Given the description of an element on the screen output the (x, y) to click on. 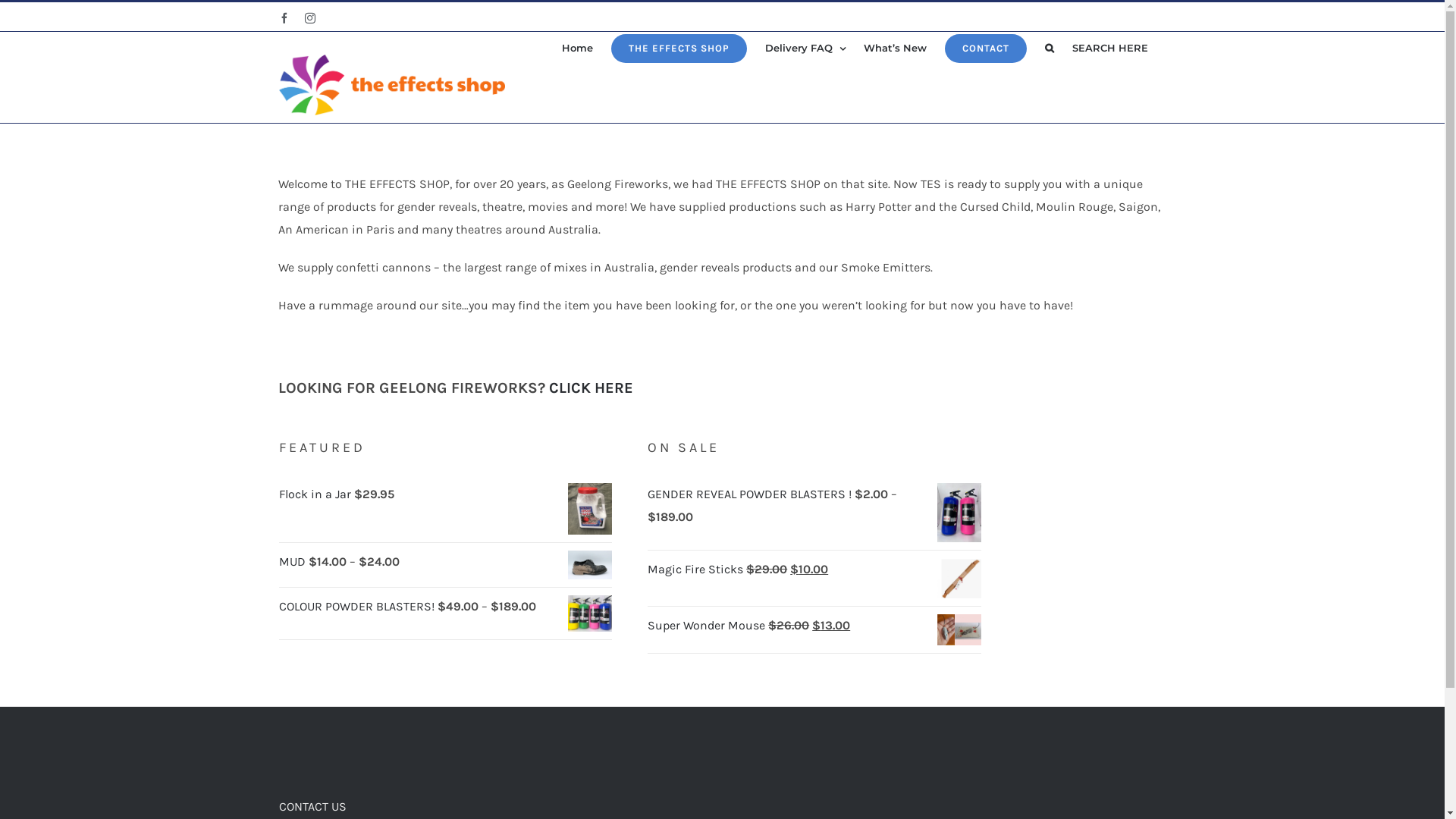
Delivery FAQ Element type: text (804, 47)
Magic Fire Sticks Element type: text (696, 568)
COLOUR POWDER BLASTERS! Element type: text (358, 606)
Home Element type: text (576, 47)
Flock in a Jar Element type: text (316, 493)
Search Element type: hover (1049, 47)
CONTACT US Element type: text (312, 806)
SEARCH HERE Element type: text (1110, 47)
CONTACT Element type: text (985, 47)
THE EFFECTS SHOP Element type: text (678, 47)
CLICK HERE Element type: text (591, 387)
Facebook Element type: text (284, 17)
GENDER REVEAL POWDER BLASTERS ! Element type: text (750, 493)
Super Wonder Mouse Element type: text (707, 625)
MUD Element type: text (293, 561)
Instagram Element type: text (309, 17)
